Given the description of an element on the screen output the (x, y) to click on. 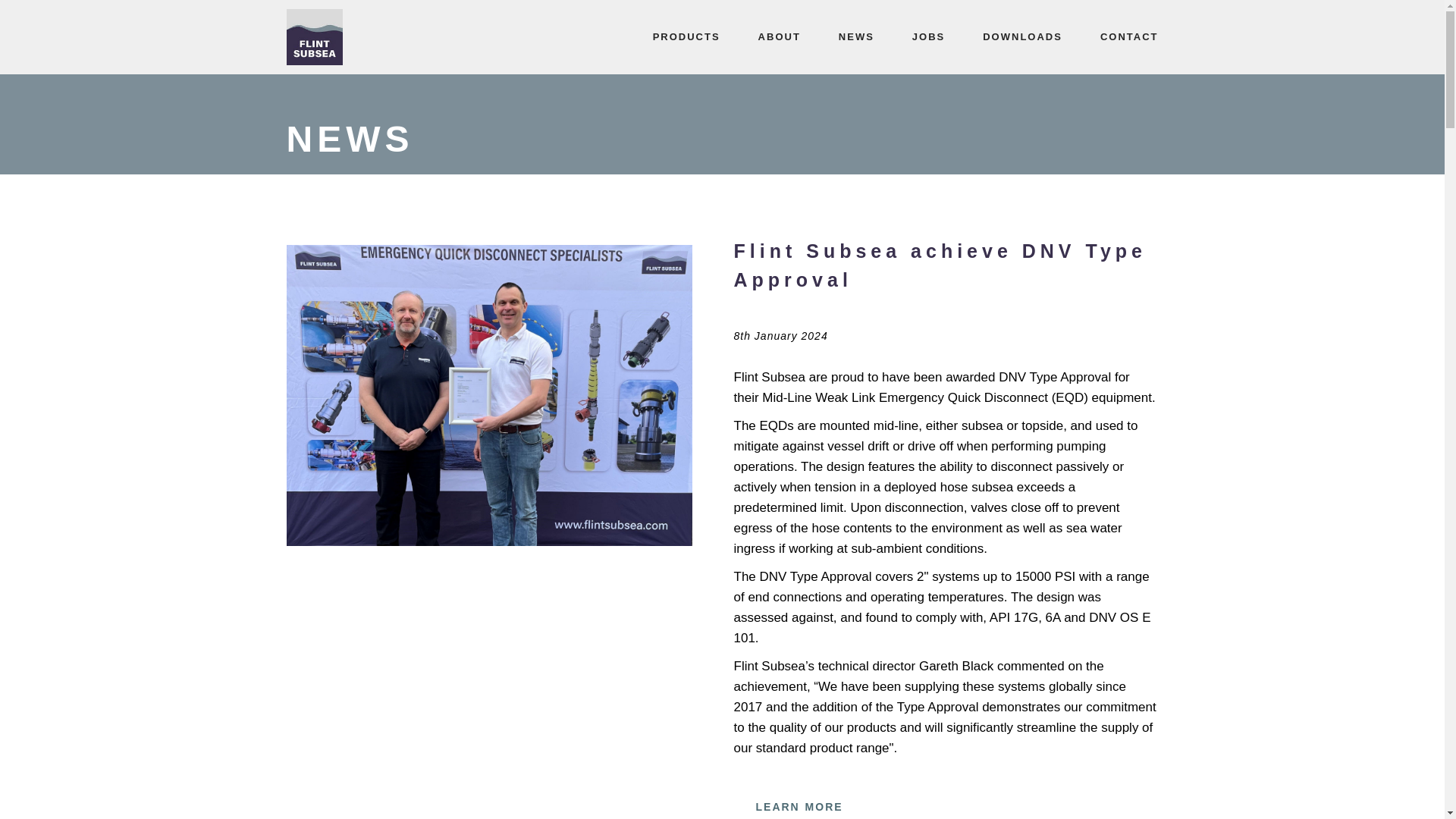
DOWNLOADS (1022, 37)
ABOUT (778, 37)
PRODUCTS (686, 37)
JOBS (927, 37)
NEWS (856, 37)
LEARN MORE (798, 802)
CONTACT (1128, 37)
